Given the description of an element on the screen output the (x, y) to click on. 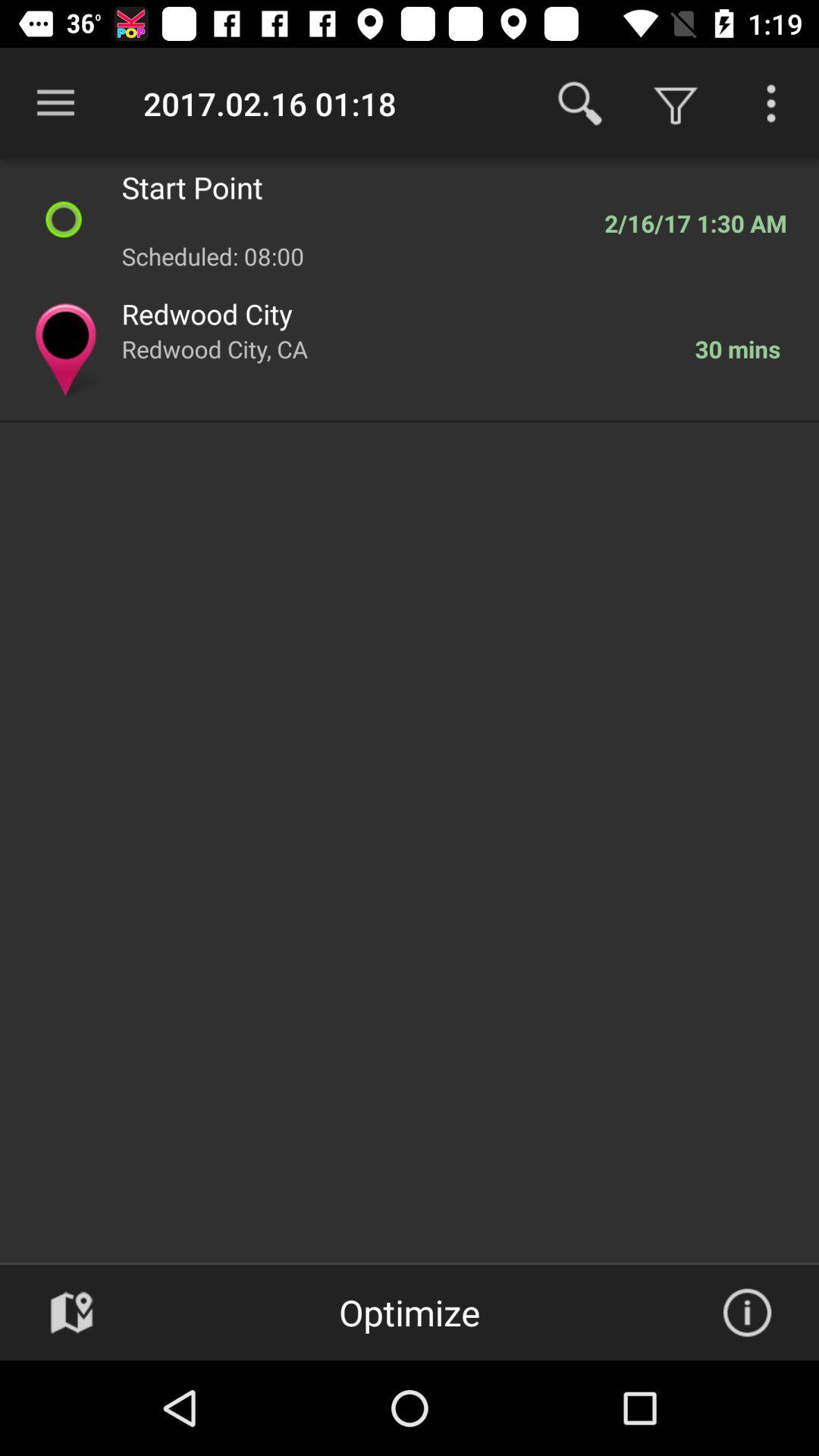
an information button (747, 1312)
